Given the description of an element on the screen output the (x, y) to click on. 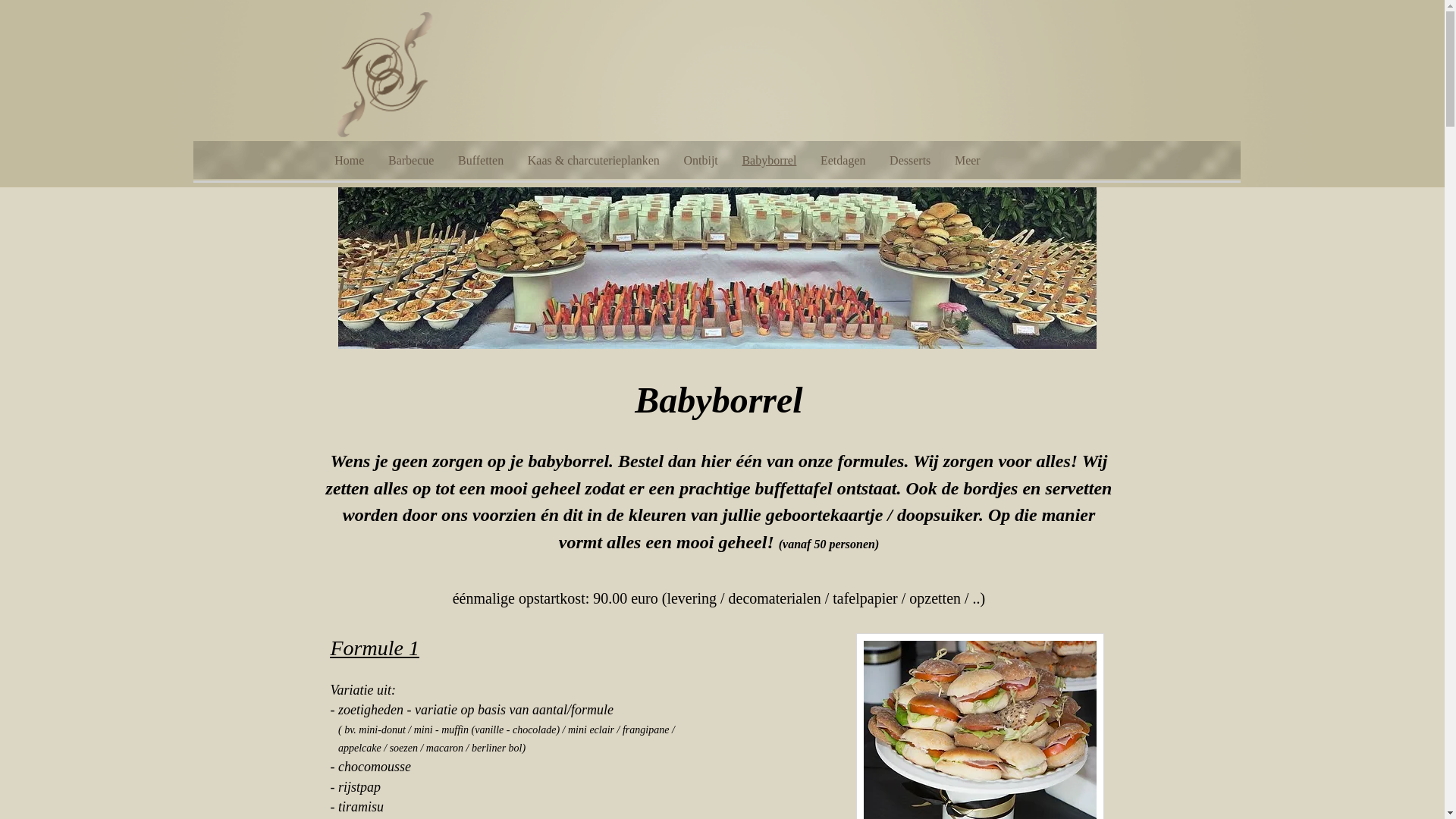
Babyborrel Element type: text (769, 160)
Buffetten Element type: text (480, 160)
Eetdagen Element type: text (842, 160)
Meer Element type: text (966, 160)
Barbecue Element type: text (410, 160)
Ontbijt Element type: text (700, 160)
Home Element type: text (349, 160)
Desserts Element type: text (909, 160)
Kaas & charcuterieplanken Element type: text (593, 160)
